Given the description of an element on the screen output the (x, y) to click on. 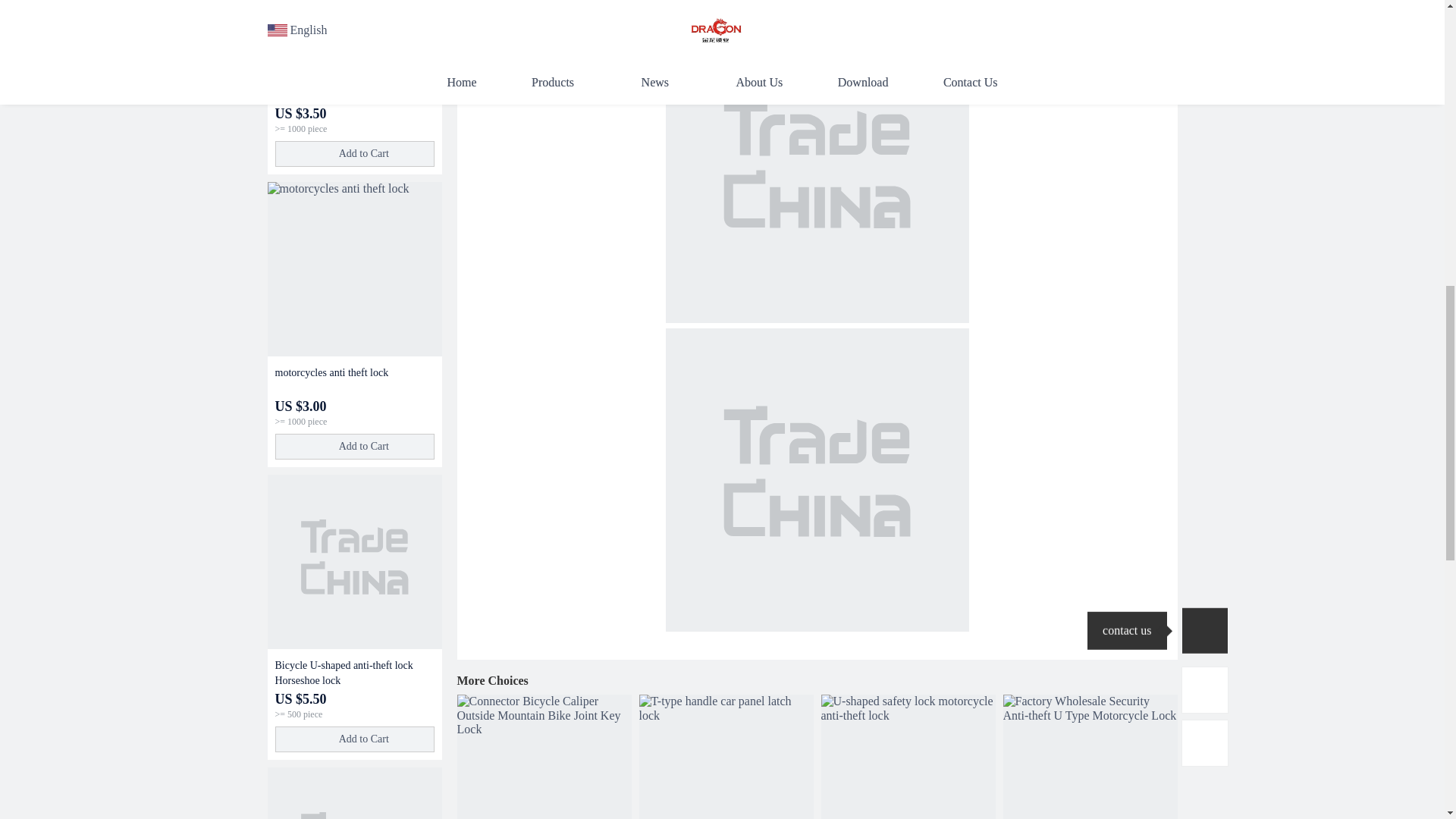
motorcycles anti theft lock (353, 268)
Bicycle U-shaped anti-theft lock door anti-theft lock (353, 793)
Switch lock with circuit board (354, 87)
Factory Wholesale Security Anti-theft U Type Motorcycle Lock (1089, 756)
Bicycle U-shaped anti-theft lock Horseshoe lock (354, 673)
Bicycle U-shaped anti-theft lock Horseshoe lock (353, 562)
motorcycles anti theft lock (354, 380)
U-shaped safety lock motorcycle anti-theft lock (907, 756)
Switch lock with circuit board (353, 31)
